Given the description of an element on the screen output the (x, y) to click on. 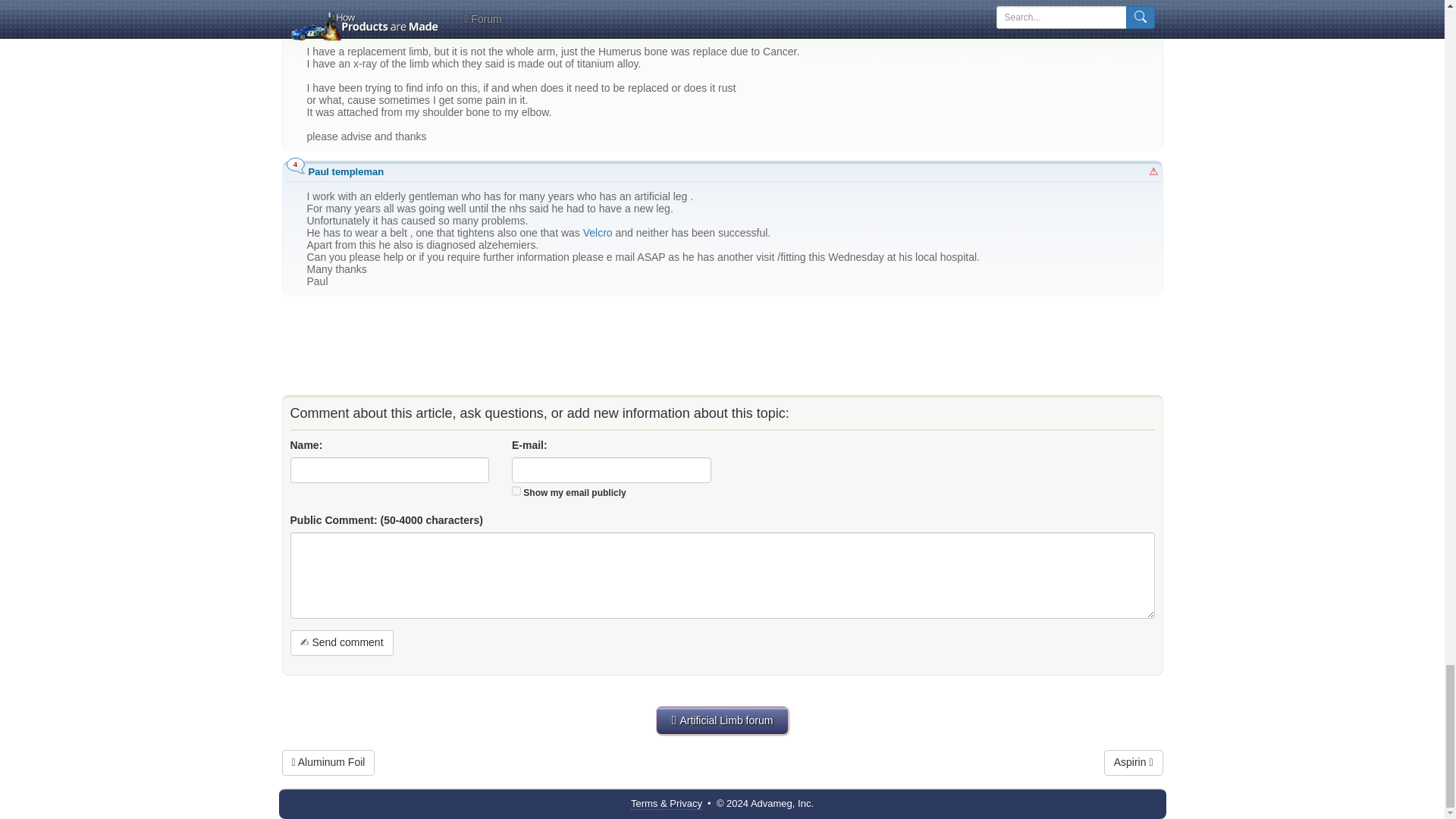
Aluminum Foil (328, 762)
1 (516, 491)
Aspirin (1133, 762)
Velcro (597, 232)
View 'velcro' definition from Wikipedia (597, 232)
Artificial Limb forum (722, 719)
